Given the description of an element on the screen output the (x, y) to click on. 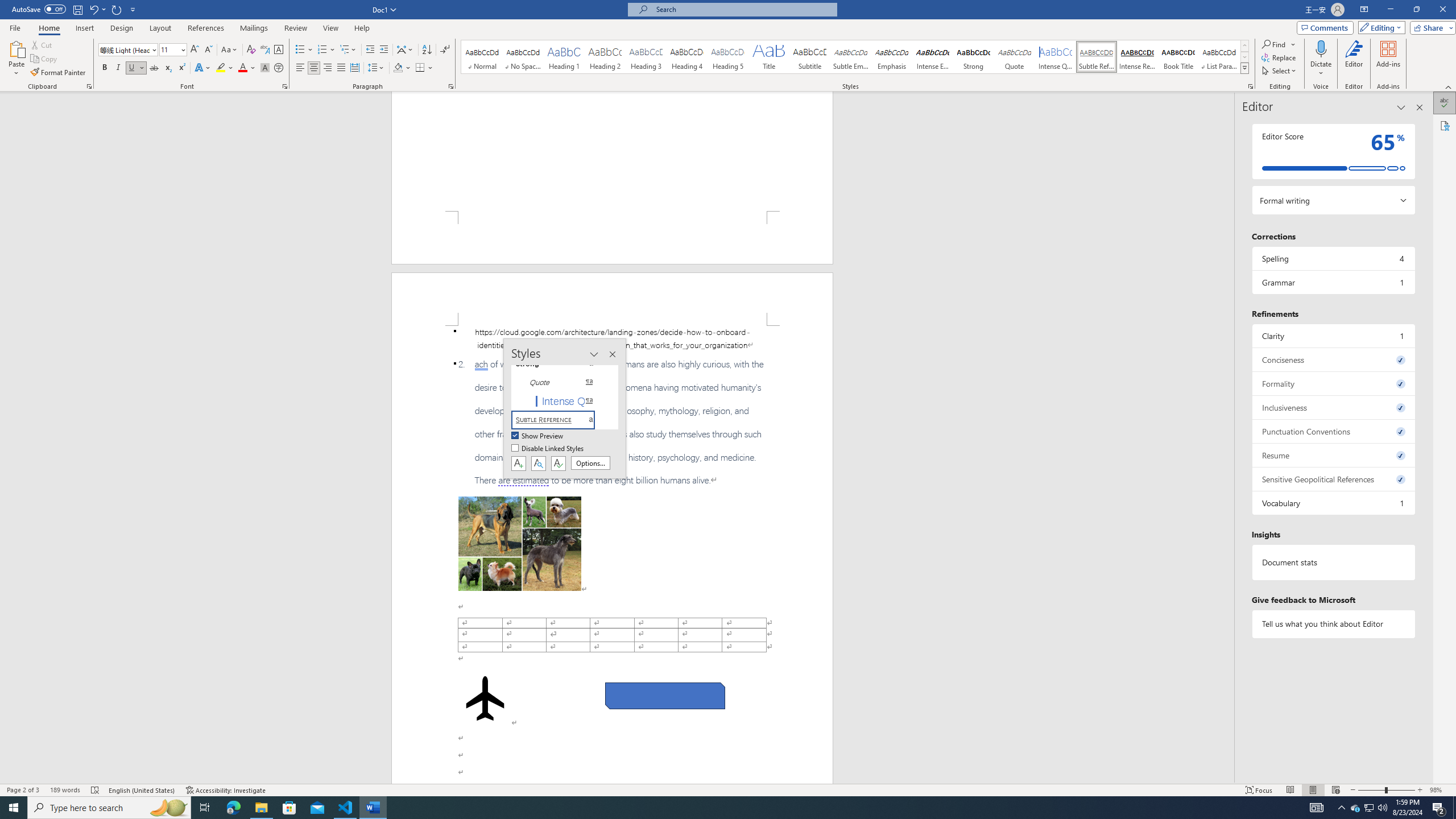
Tell us what you think about Editor (1333, 624)
Rectangle: Diagonal Corners Snipped 2 (665, 695)
Asian Layout (405, 49)
Heading 3 (646, 56)
Review (295, 28)
Intense Quote (1055, 56)
Class: MsoCommandBar (728, 789)
Font Color Automatic (241, 67)
Character Shading (264, 67)
Align Left (300, 67)
Show Preview (537, 436)
Subscript (167, 67)
